Given the description of an element on the screen output the (x, y) to click on. 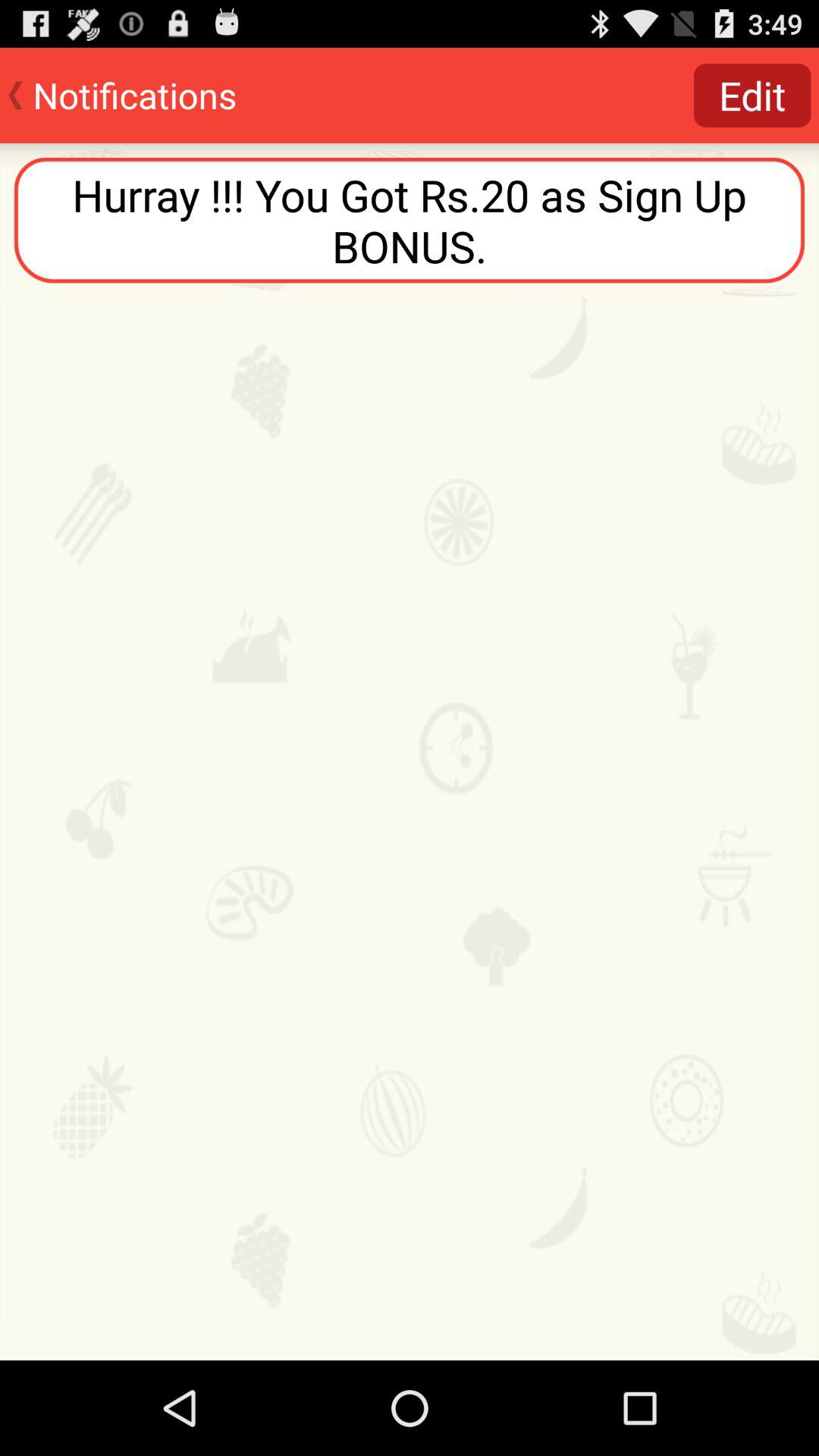
press edit    icon (752, 95)
